Given the description of an element on the screen output the (x, y) to click on. 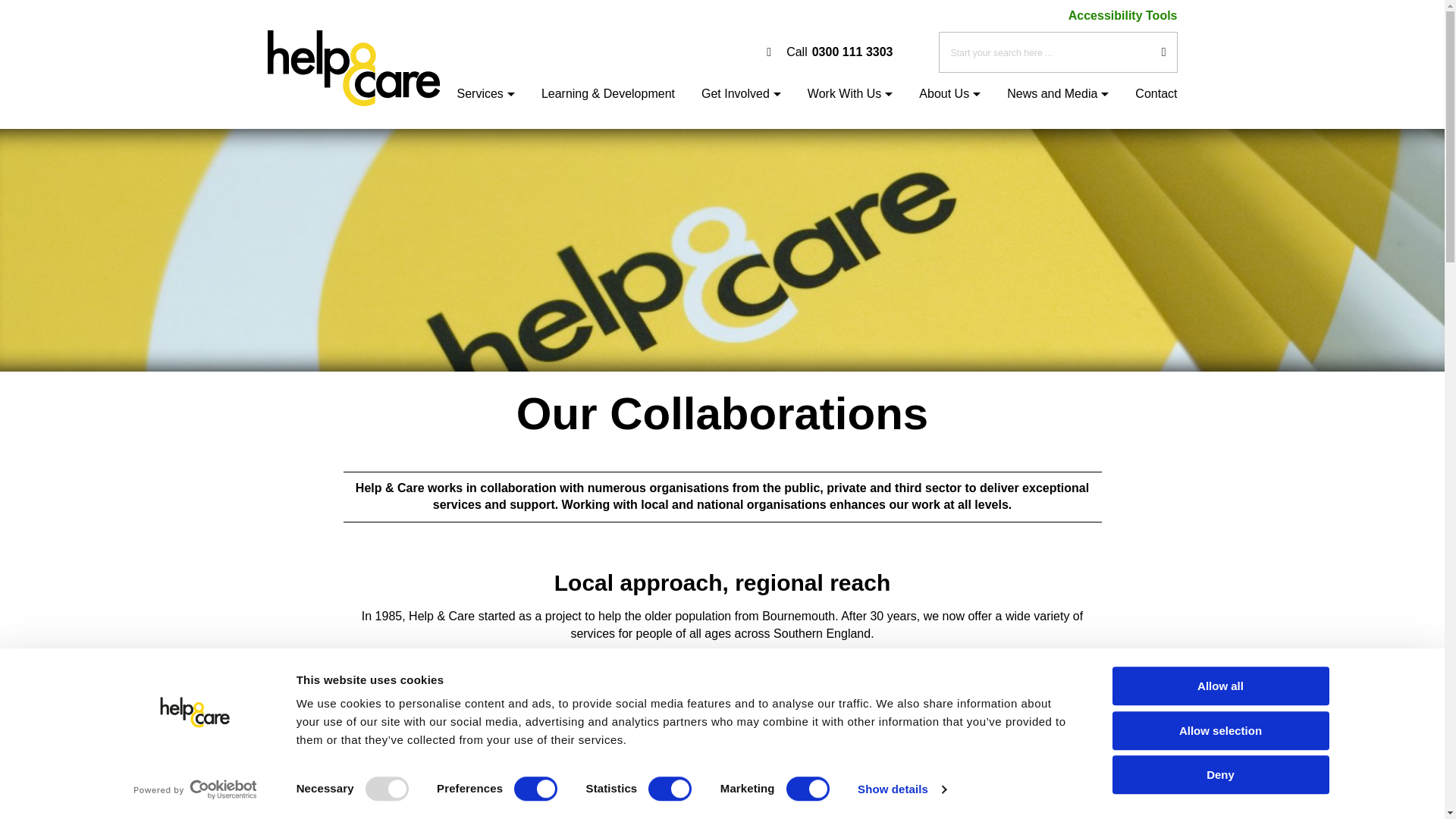
Show details (900, 789)
Allow all (1219, 685)
Accessibility Tools (1122, 15)
Allow selection (829, 52)
Deny (1219, 730)
